Given the description of an element on the screen output the (x, y) to click on. 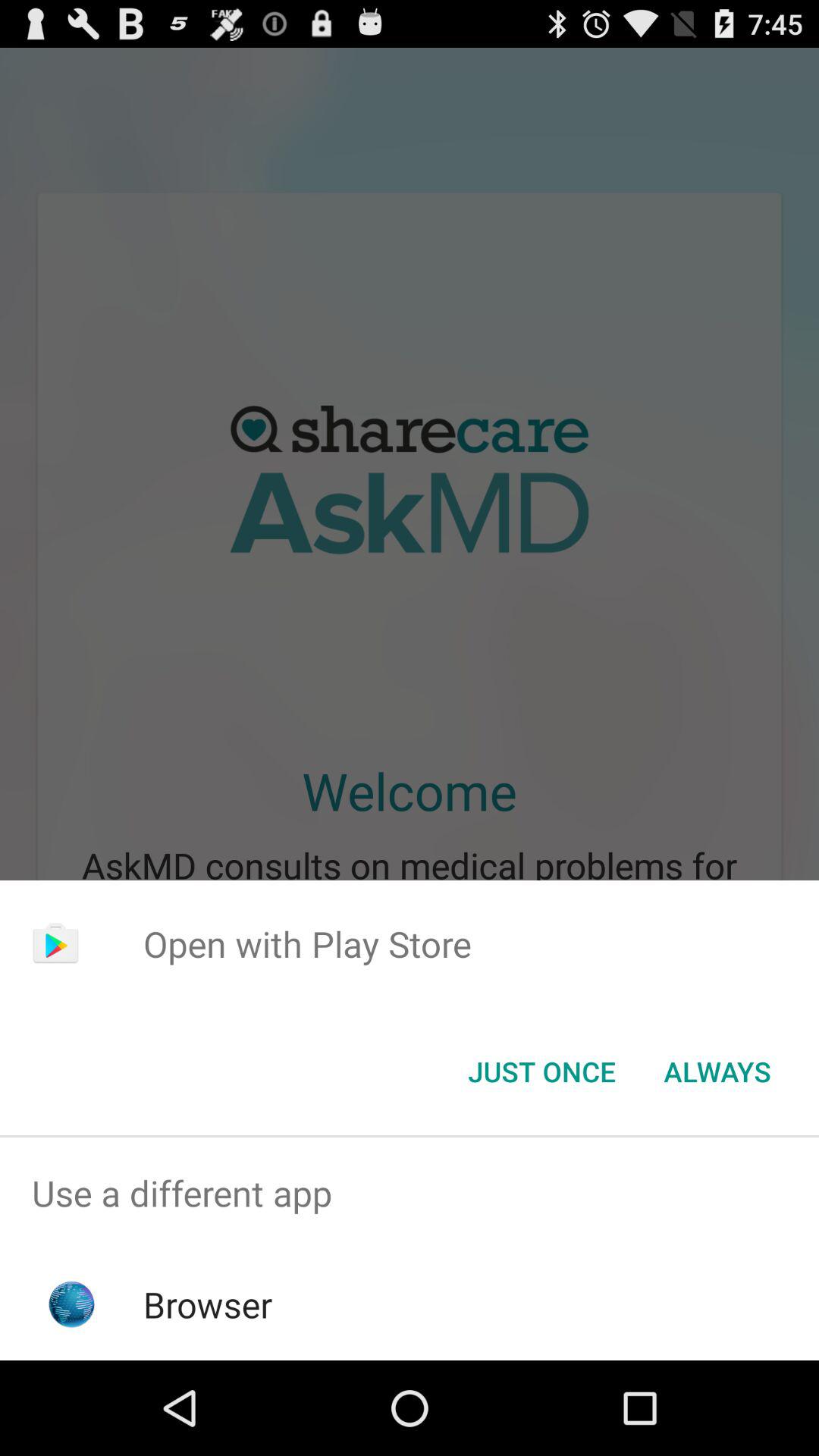
open the button to the left of always (541, 1071)
